Given the description of an element on the screen output the (x, y) to click on. 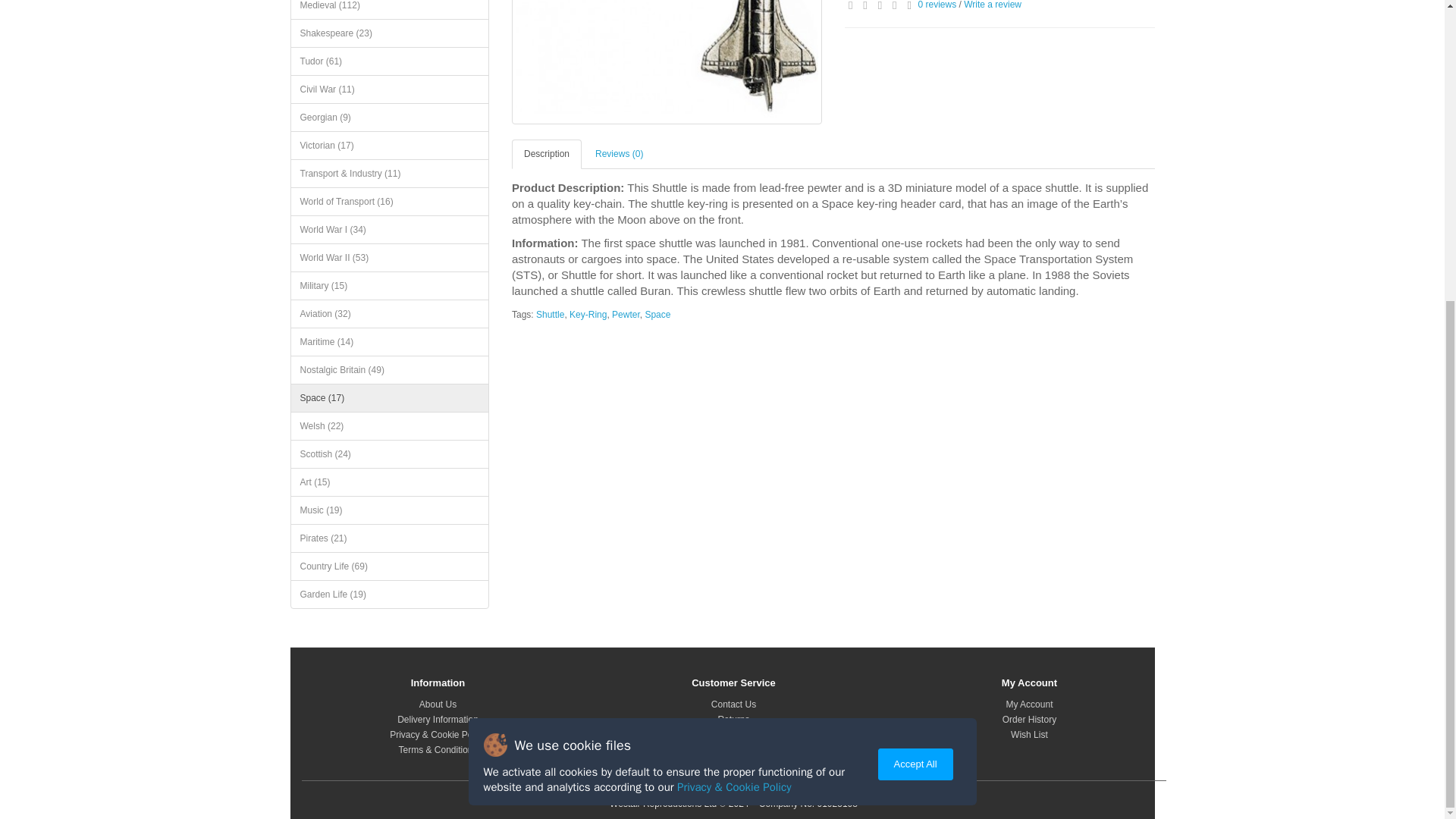
Shuttle Key-Ring (667, 61)
Shuttle Key-Ring (666, 59)
